Given the description of an element on the screen output the (x, y) to click on. 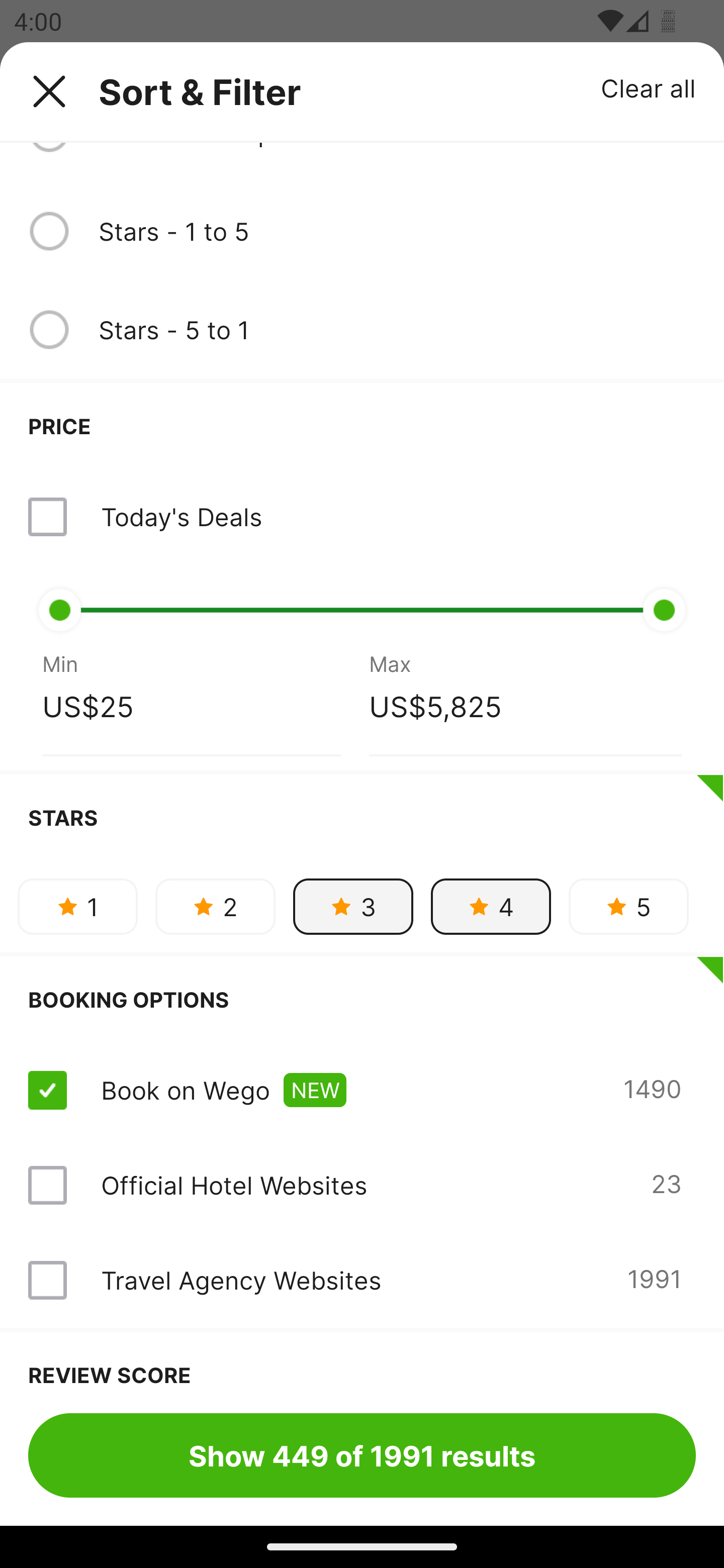
Clear all (648, 87)
Stars - 1 to 5 (396, 231)
Stars - 5 to 1 (396, 329)
Today's Deals (181, 516)
1 (77, 906)
2 (214, 906)
3 (352, 906)
4 (491, 906)
5 (627, 906)
Book on Wego NEW 1490 (362, 1090)
Book on Wego (184, 1089)
Official Hotel Websites 23 (362, 1185)
Official Hotel Websites (233, 1185)
Travel Agency Websites 1991 (362, 1280)
Travel Agency Websites (240, 1280)
Show 449 of 1991 results (361, 1454)
